Given the description of an element on the screen output the (x, y) to click on. 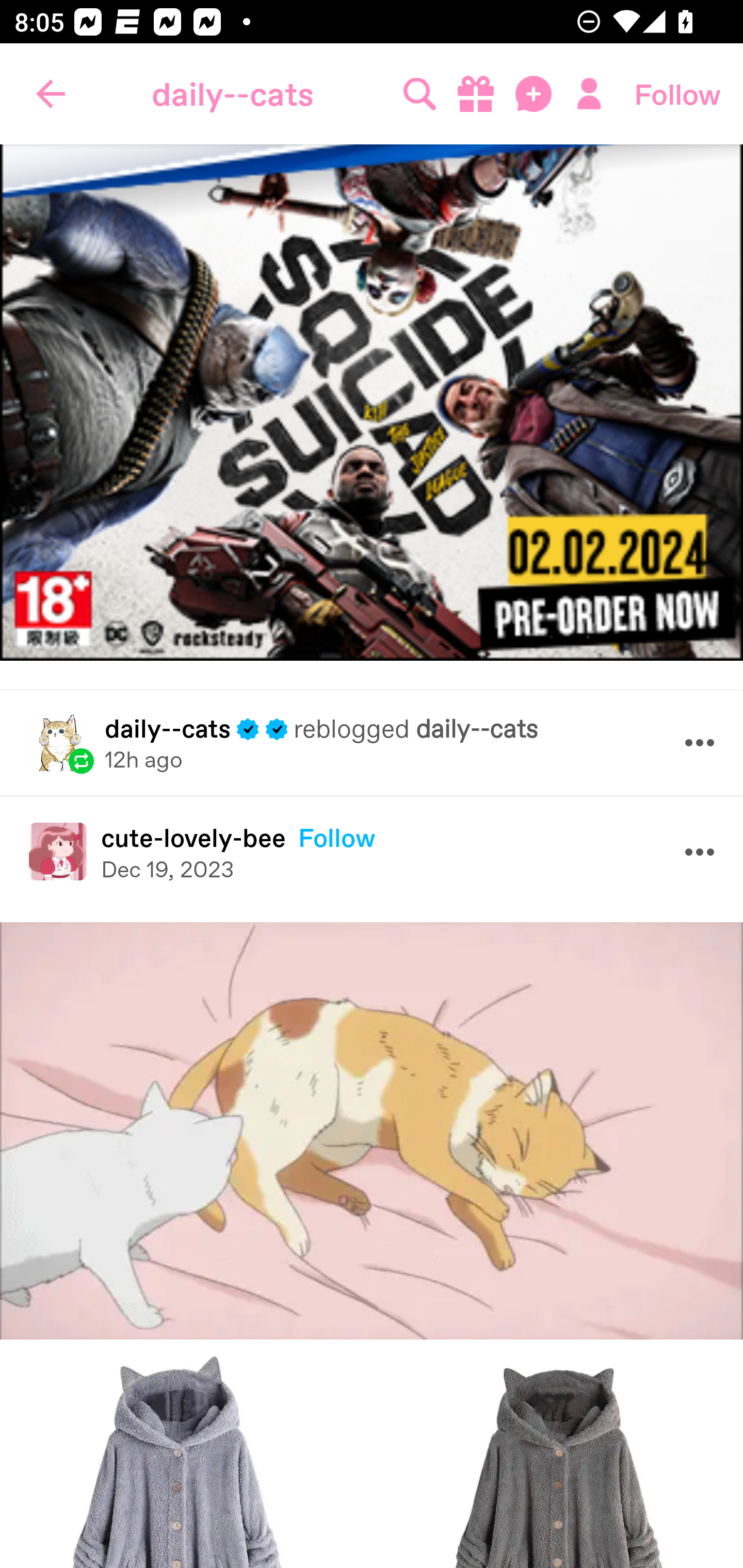
Navigate up (50, 93)
Messages (535, 93)
Follow (677, 93)
